Given the description of an element on the screen output the (x, y) to click on. 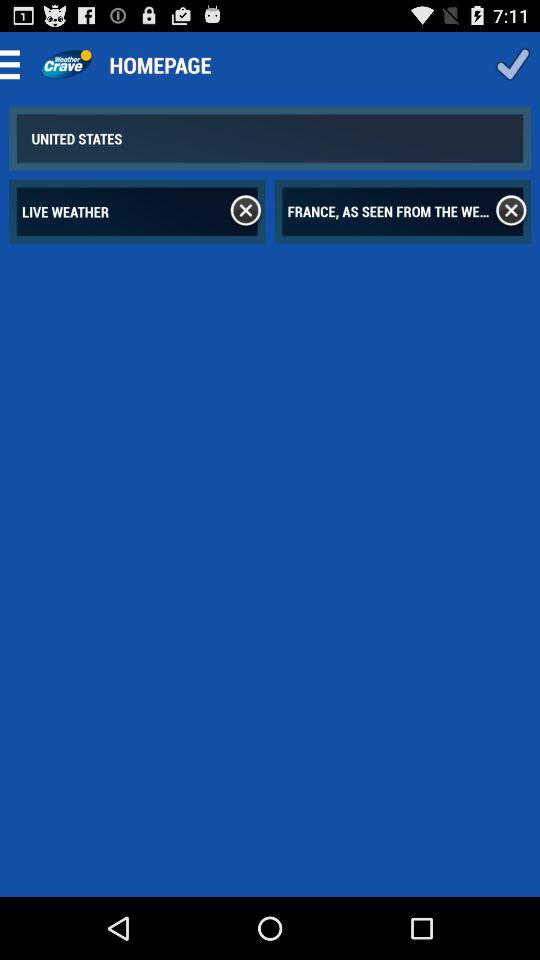
press the tick (512, 64)
